Given the description of an element on the screen output the (x, y) to click on. 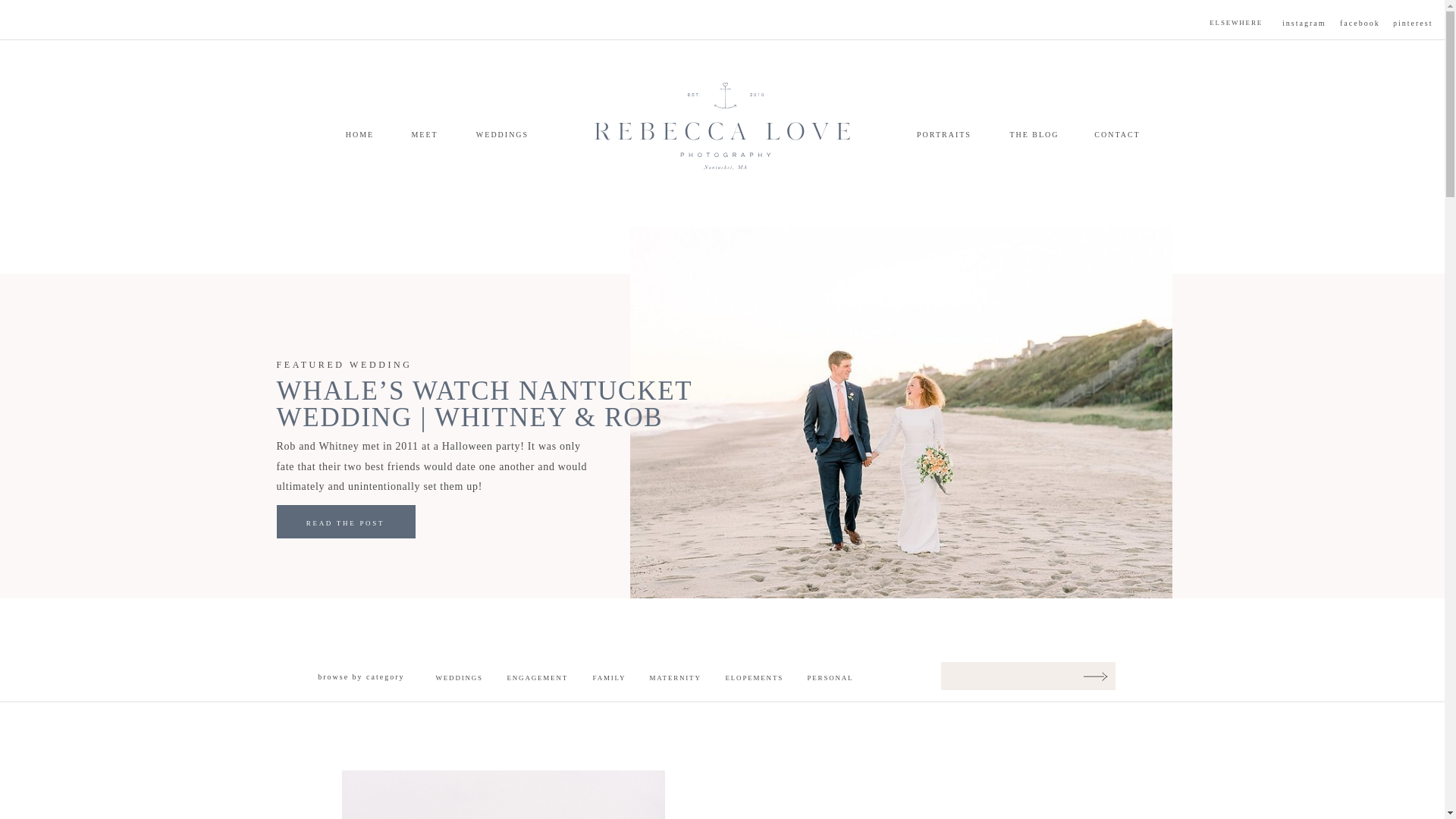
READ THE POST (344, 525)
facebook (1359, 24)
MATERNITY (676, 677)
HOME (359, 135)
PERSONAL (833, 677)
FAMILY (613, 677)
WEDDINGS (461, 677)
instagram (1306, 24)
CONTACT (1118, 135)
ENGAGEMENT (534, 677)
WEDDINGS (502, 135)
THE BLOG (1034, 135)
PORTRAITS (943, 135)
ELOPEMENTS (751, 677)
MEET (423, 135)
